Given the description of an element on the screen output the (x, y) to click on. 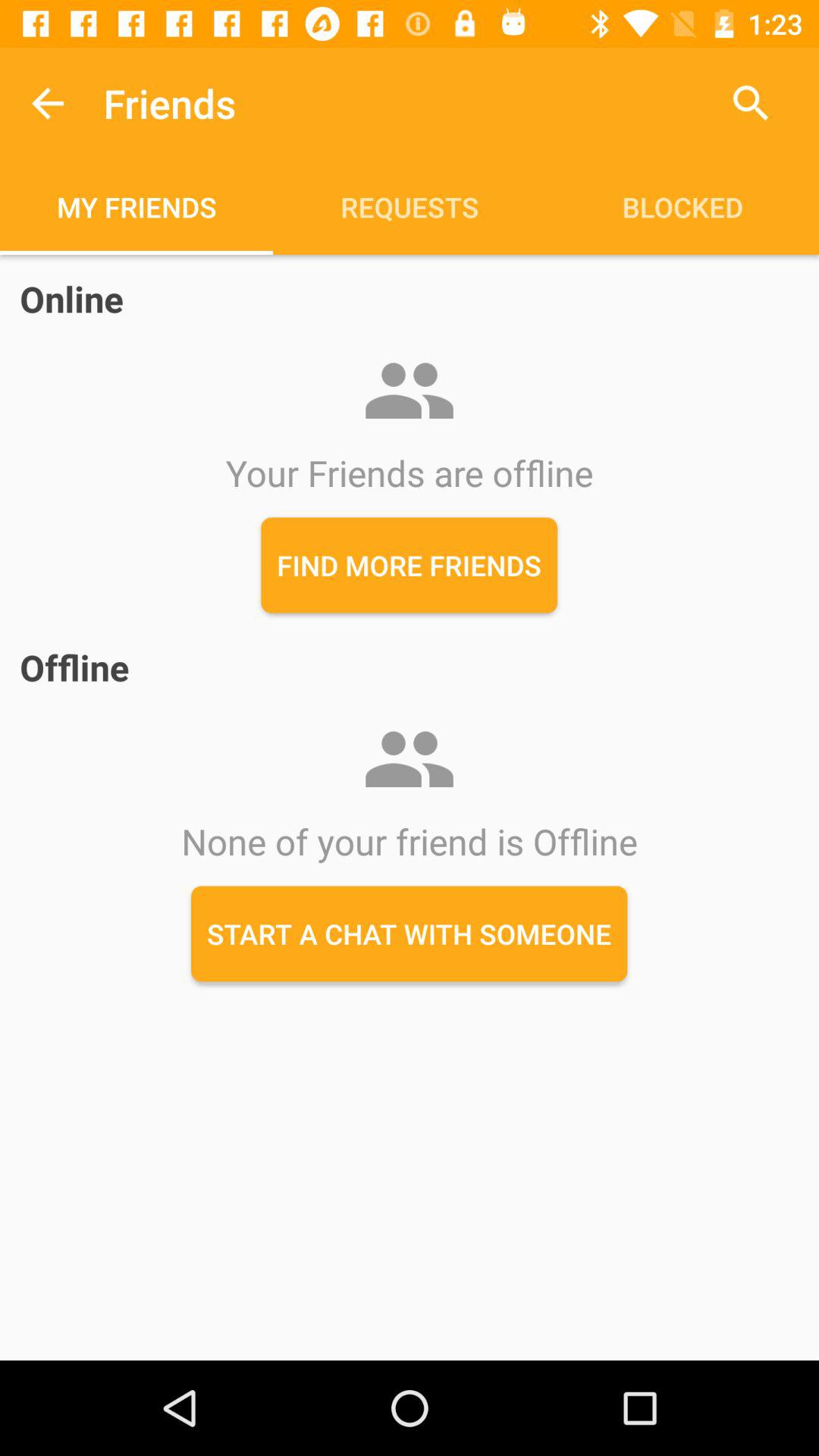
swipe to the find more friends (409, 565)
